Given the description of an element on the screen output the (x, y) to click on. 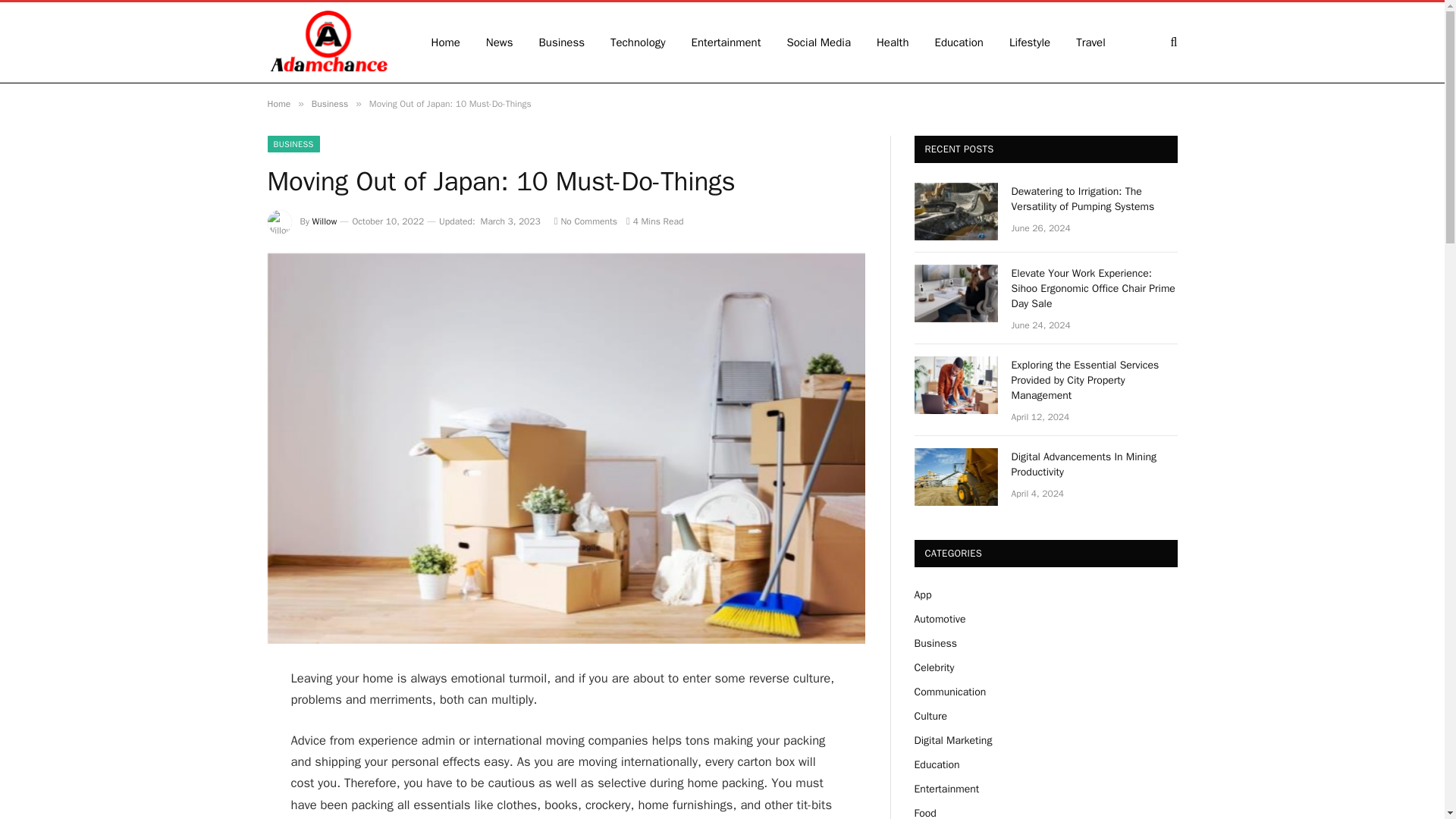
Digital Advancements In Mining Productivity (955, 476)
Dewatering to Irrigation: The Versatility of Pumping Systems (1094, 199)
App (922, 594)
Willow (325, 221)
BUSINESS (292, 143)
Automotive (940, 618)
No Comments (585, 221)
Education (958, 42)
Dewatering to Irrigation: The Versatility of Pumping Systems (955, 211)
Social Media (818, 42)
Digital Advancements In Mining Productivity (1094, 464)
